Given the description of an element on the screen output the (x, y) to click on. 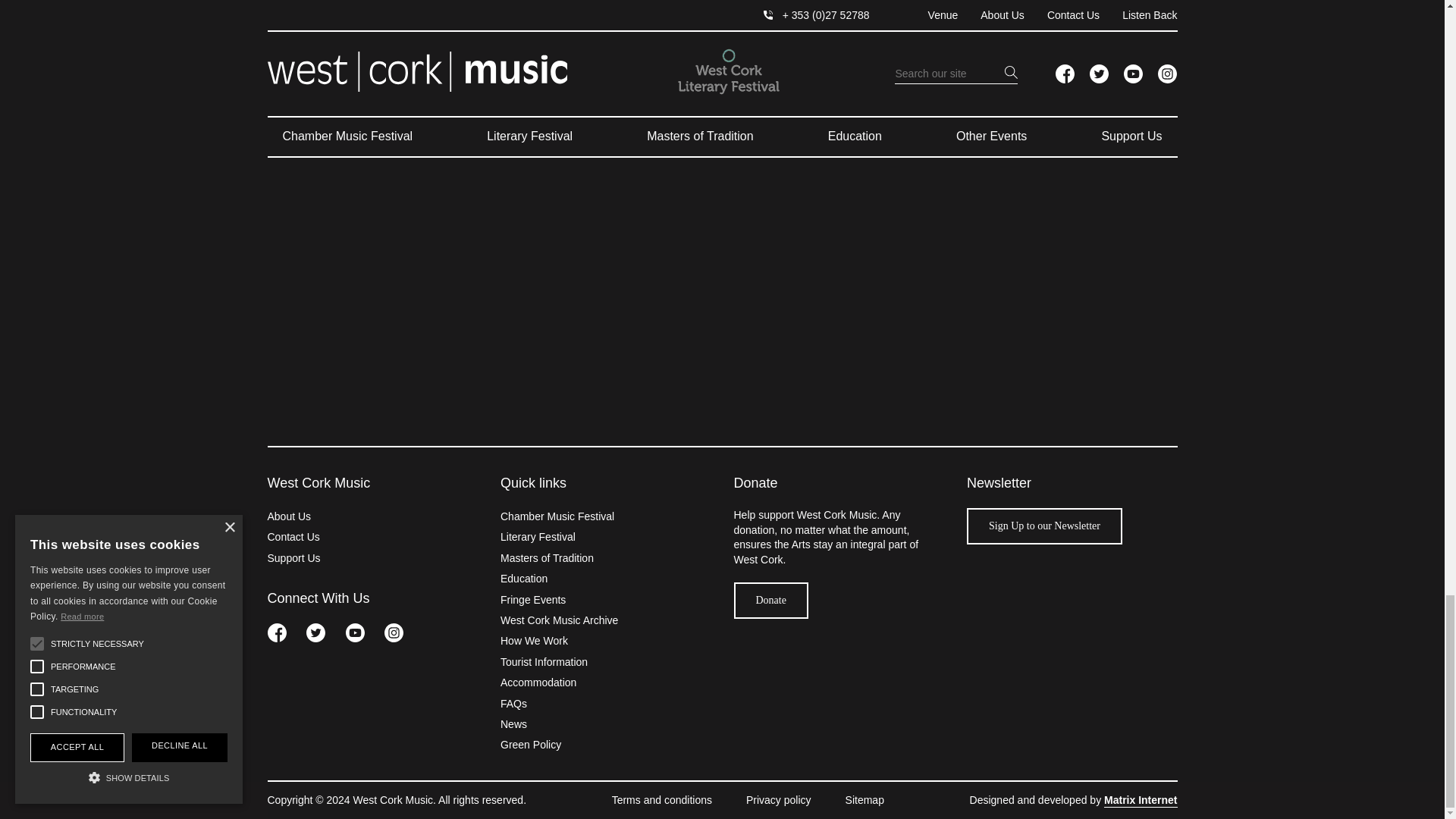
Download the programme (431, 45)
FAQs (721, 45)
